Given the description of an element on the screen output the (x, y) to click on. 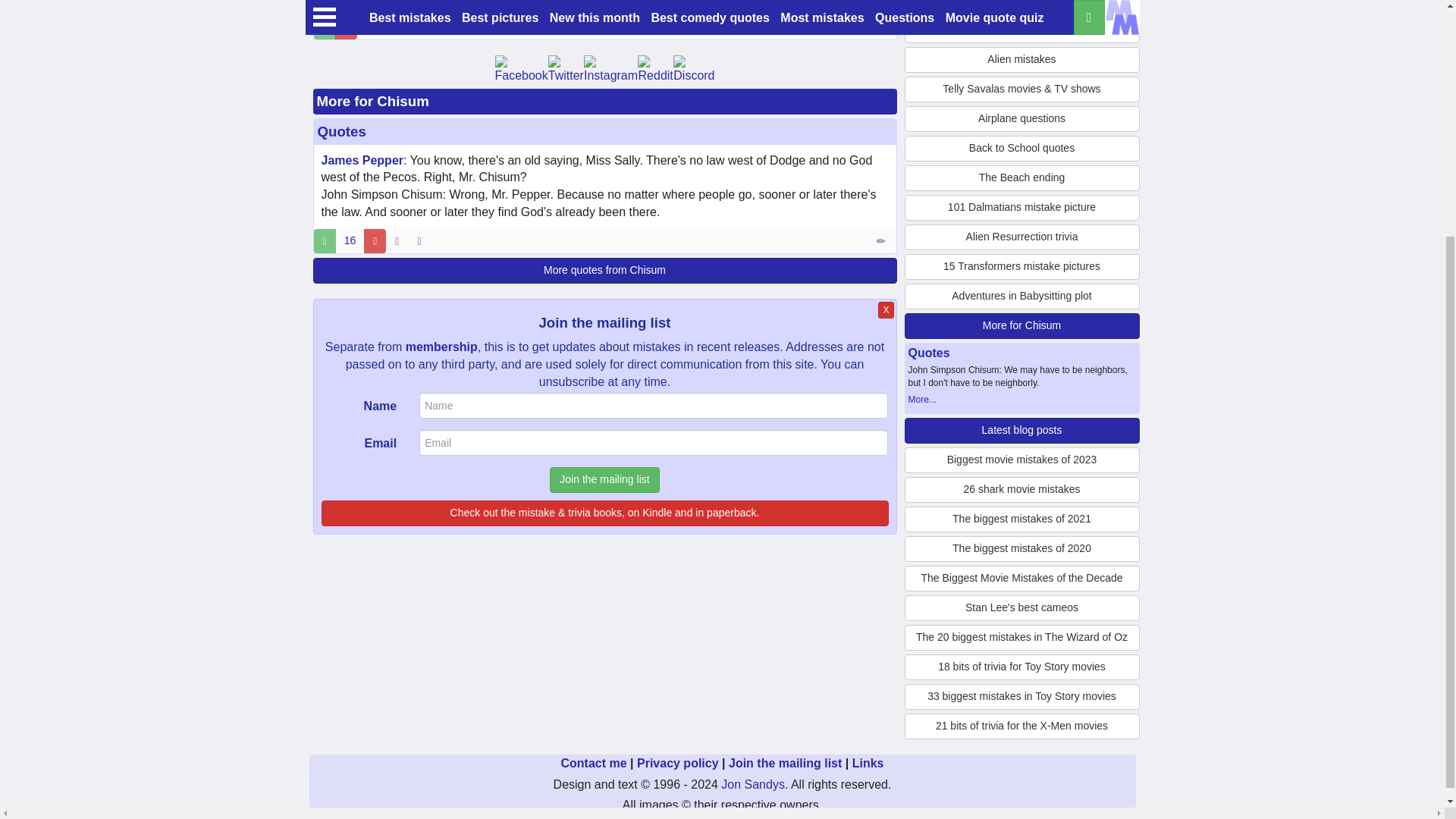
Entry 285564 (881, 241)
I dislike this (345, 27)
I like this (325, 241)
Entry 201815 (881, 27)
Share this entry (421, 241)
Share this entry (399, 27)
ID 201815: 6th May 2014 (370, 27)
I like this (325, 27)
I dislike this (374, 241)
ID 285564: 1st January 2000 (396, 241)
